Given the description of an element on the screen output the (x, y) to click on. 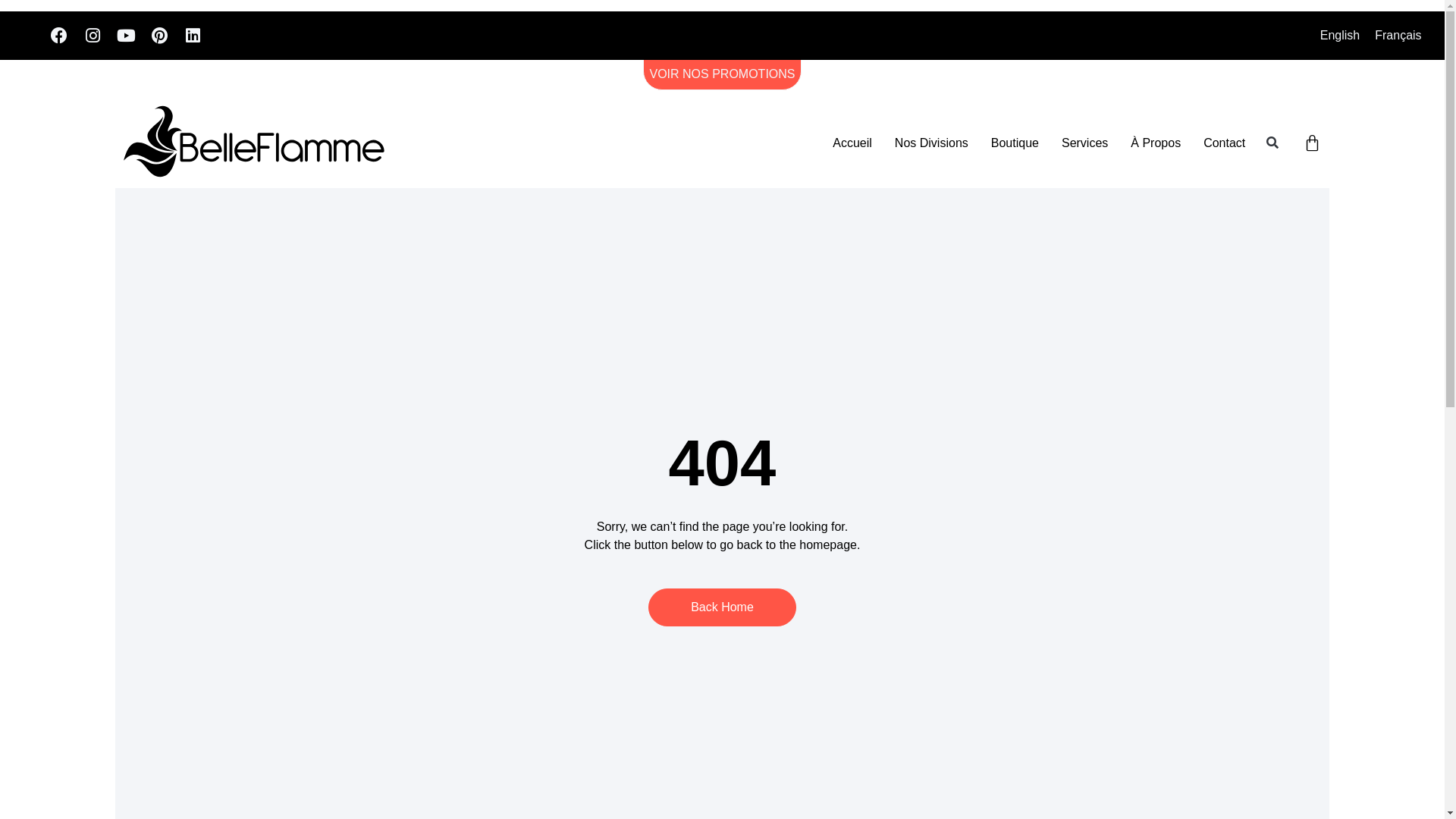
Accueil Element type: text (852, 143)
Services Element type: text (1084, 143)
Contact Element type: text (1224, 143)
Boutique Element type: text (1014, 143)
VOIR NOS PROMOTIONS Element type: text (721, 71)
Nos Divisions Element type: text (931, 143)
Back Home Element type: text (722, 607)
English Element type: text (1339, 35)
